Given the description of an element on the screen output the (x, y) to click on. 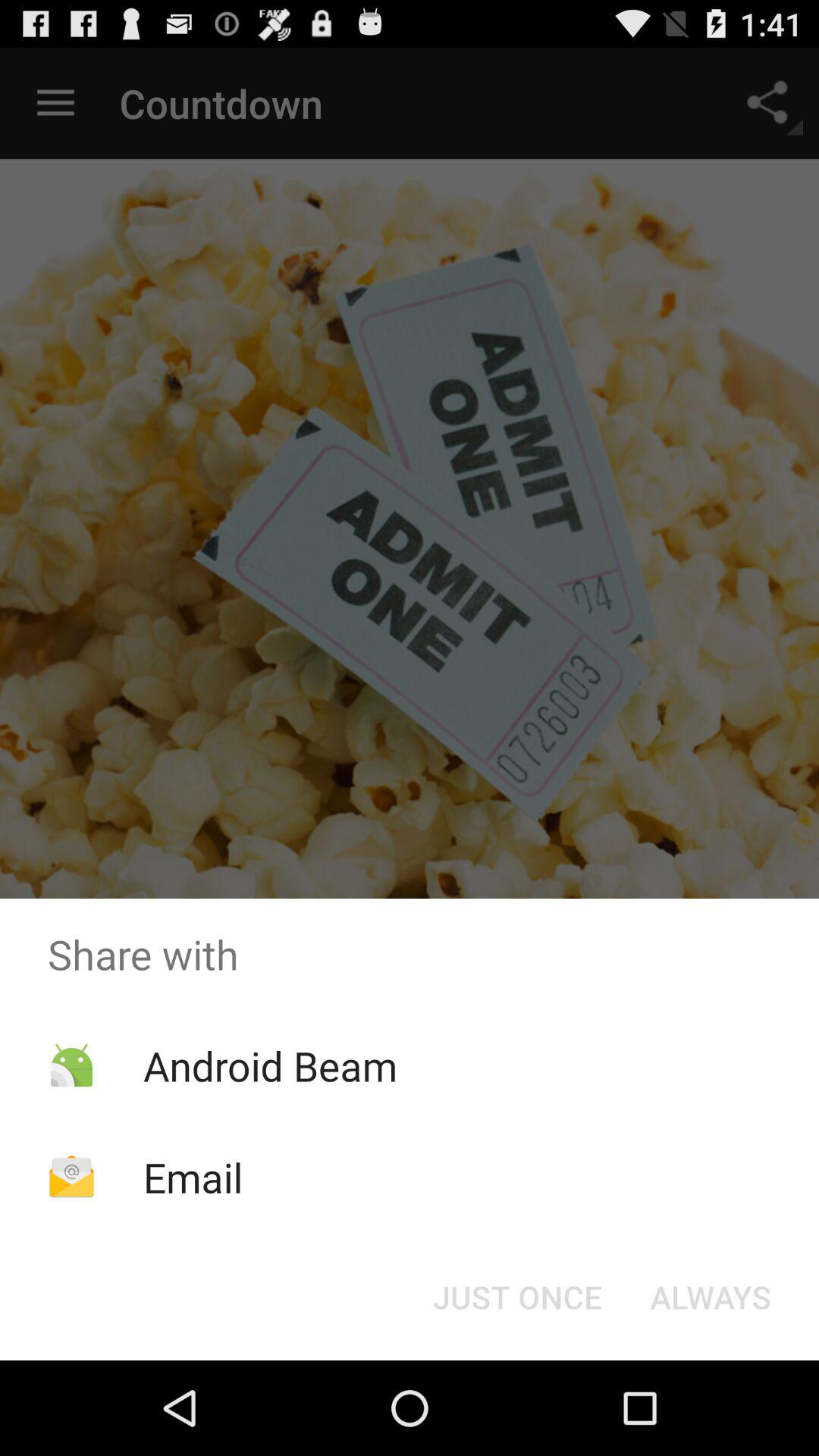
open the button next to just once button (710, 1296)
